Given the description of an element on the screen output the (x, y) to click on. 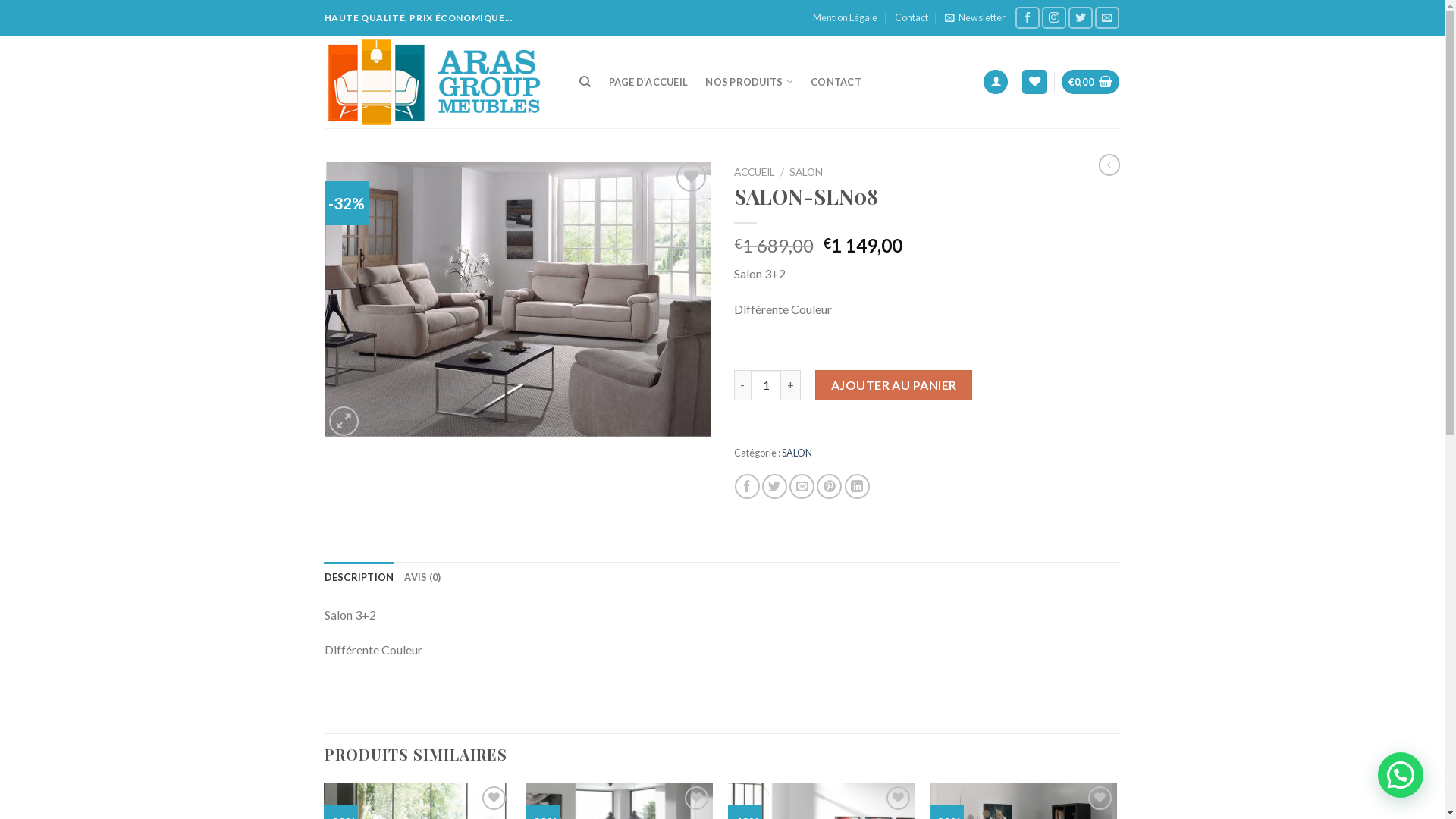
Nous envoyer un email Element type: hover (1107, 17)
SALON Element type: text (805, 172)
SALON Element type: text (796, 452)
Nous suivre sur Instagram Element type: hover (1053, 17)
AVIS (0) Element type: text (422, 576)
ACCUEIL Element type: text (754, 172)
Partager sur Twitter Element type: hover (774, 485)
Envoyer par mail Element type: hover (801, 485)
Nous suivre sur Facebook Element type: hover (1027, 17)
CONTACT Element type: text (836, 82)
Newsletter Element type: text (974, 17)
Epingler sur Pinterest Element type: hover (828, 485)
Partager sur Facebook Element type: hover (746, 485)
Zoom Element type: hover (343, 421)
Partager sur LinkedIn Element type: hover (856, 485)
ARAS GROUP MEUBLES Element type: hover (436, 81)
Contact Element type: text (911, 17)
Nous suivre sur Twitter Element type: hover (1080, 17)
NOS PRODUITS Element type: text (749, 82)
Bingo Element type: hover (517, 298)
AJOUTER AU PANIER Element type: text (893, 385)
DESCRIPTION Element type: text (359, 576)
